Given the description of an element on the screen output the (x, y) to click on. 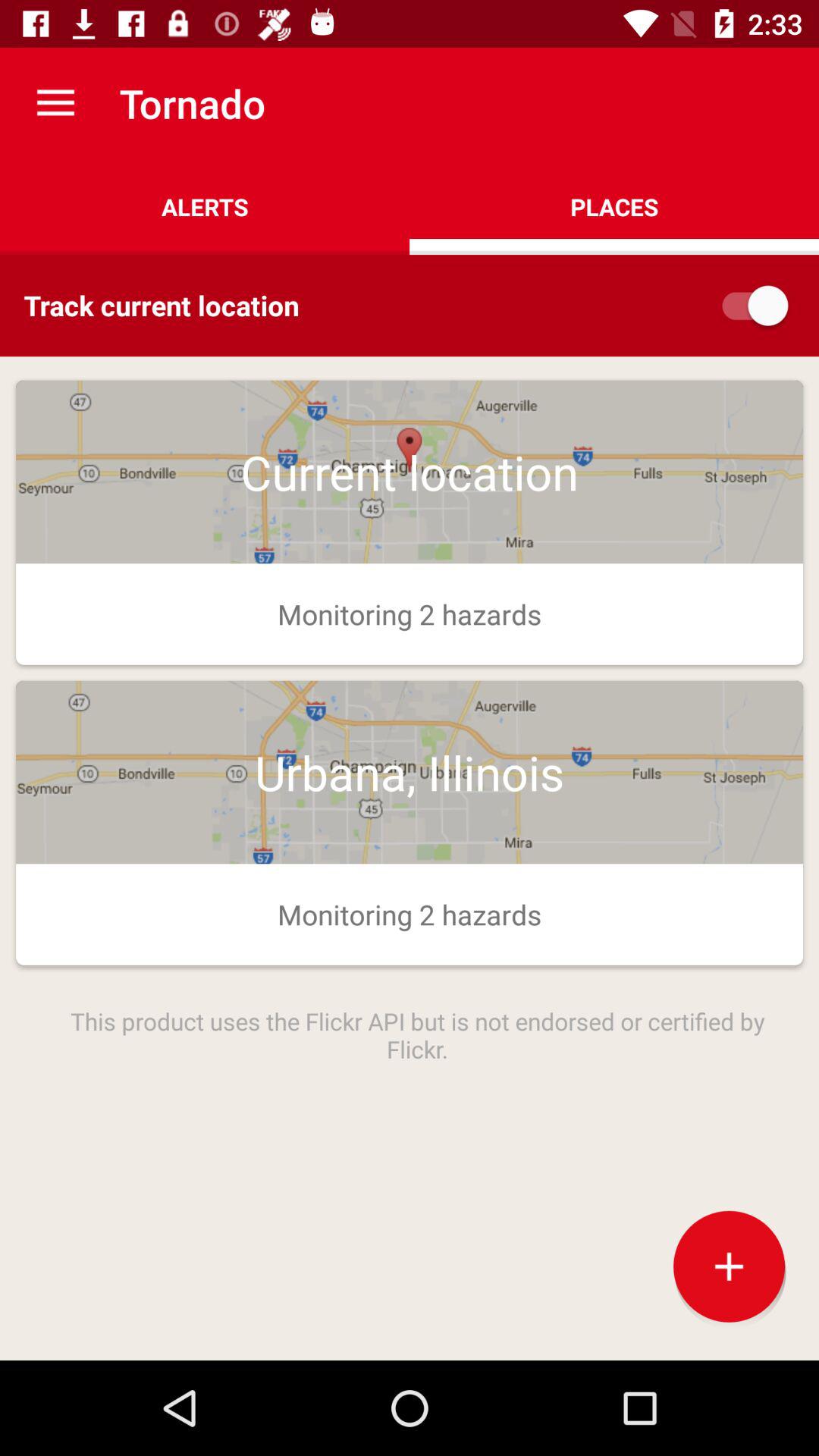
turn on alerts icon (204, 206)
